Given the description of an element on the screen output the (x, y) to click on. 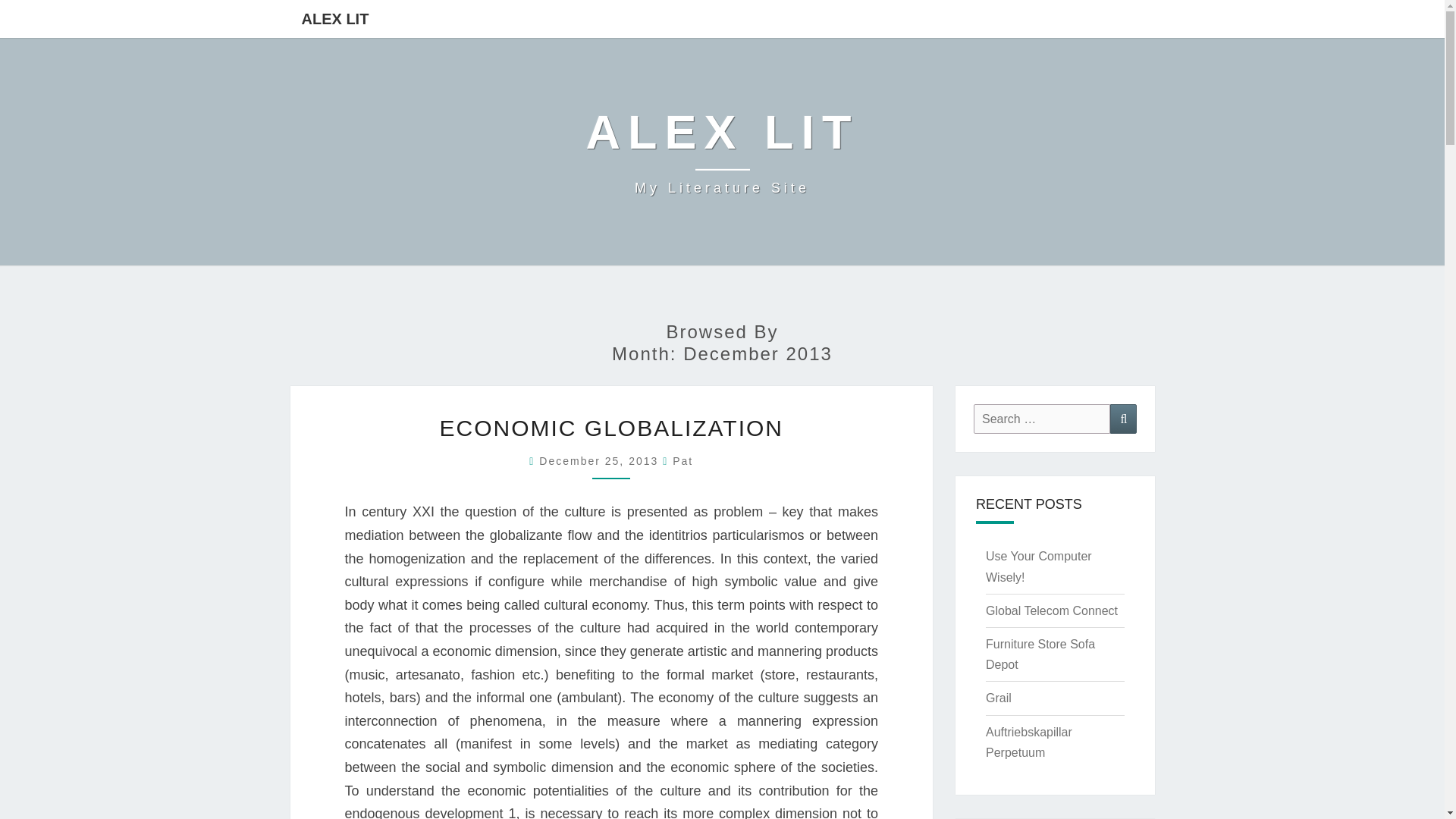
Search (1123, 419)
12:11 pm (600, 460)
Alex Lit (722, 151)
Global Telecom Connect (1051, 610)
Use Your Computer Wisely! (1038, 566)
December 25, 2013 (600, 460)
Grail (998, 697)
Pat (682, 460)
Auftriebskapillar Perpetuum (1028, 741)
ECONOMIC GLOBALIZATION (722, 151)
View all posts by Pat (611, 427)
Furniture Store Sofa Depot (682, 460)
ALEX LIT (1039, 654)
Search for: (334, 18)
